Given the description of an element on the screen output the (x, y) to click on. 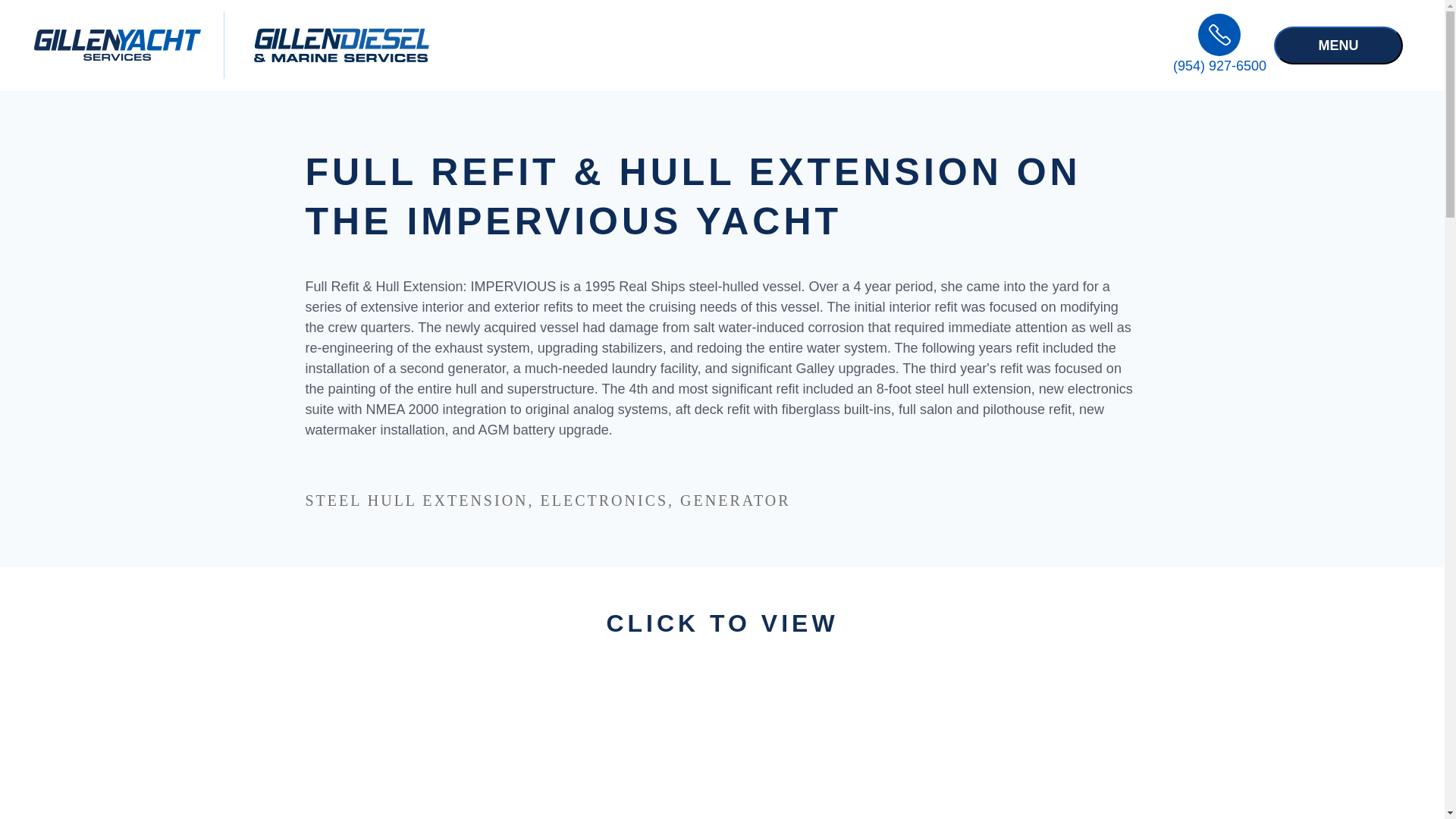
MENU (1338, 44)
